Given the description of an element on the screen output the (x, y) to click on. 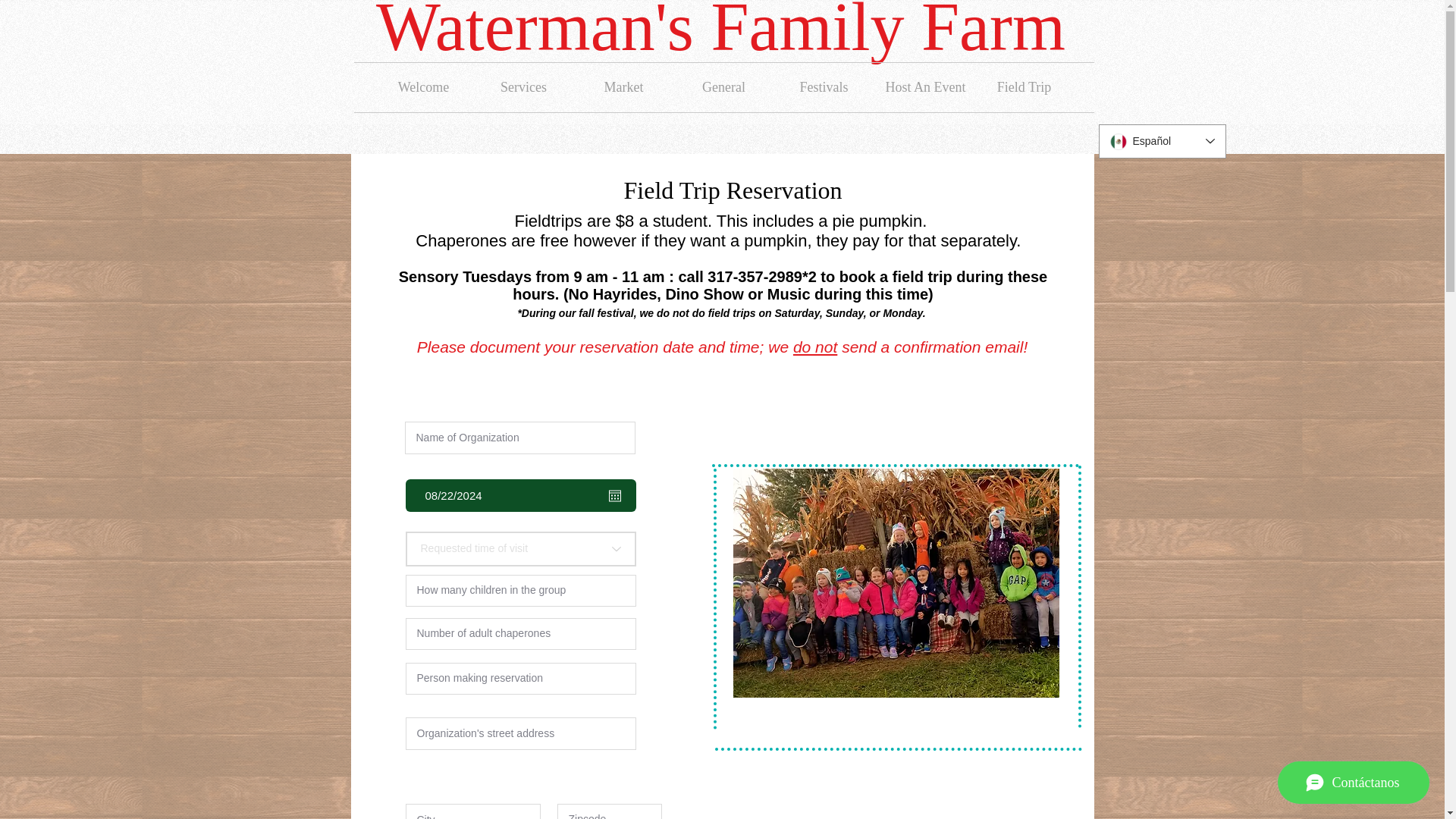
Welcome (422, 87)
Services (523, 87)
Host An Event (923, 87)
General (722, 87)
Market (622, 87)
Field Trip (1024, 87)
